Given the description of an element on the screen output the (x, y) to click on. 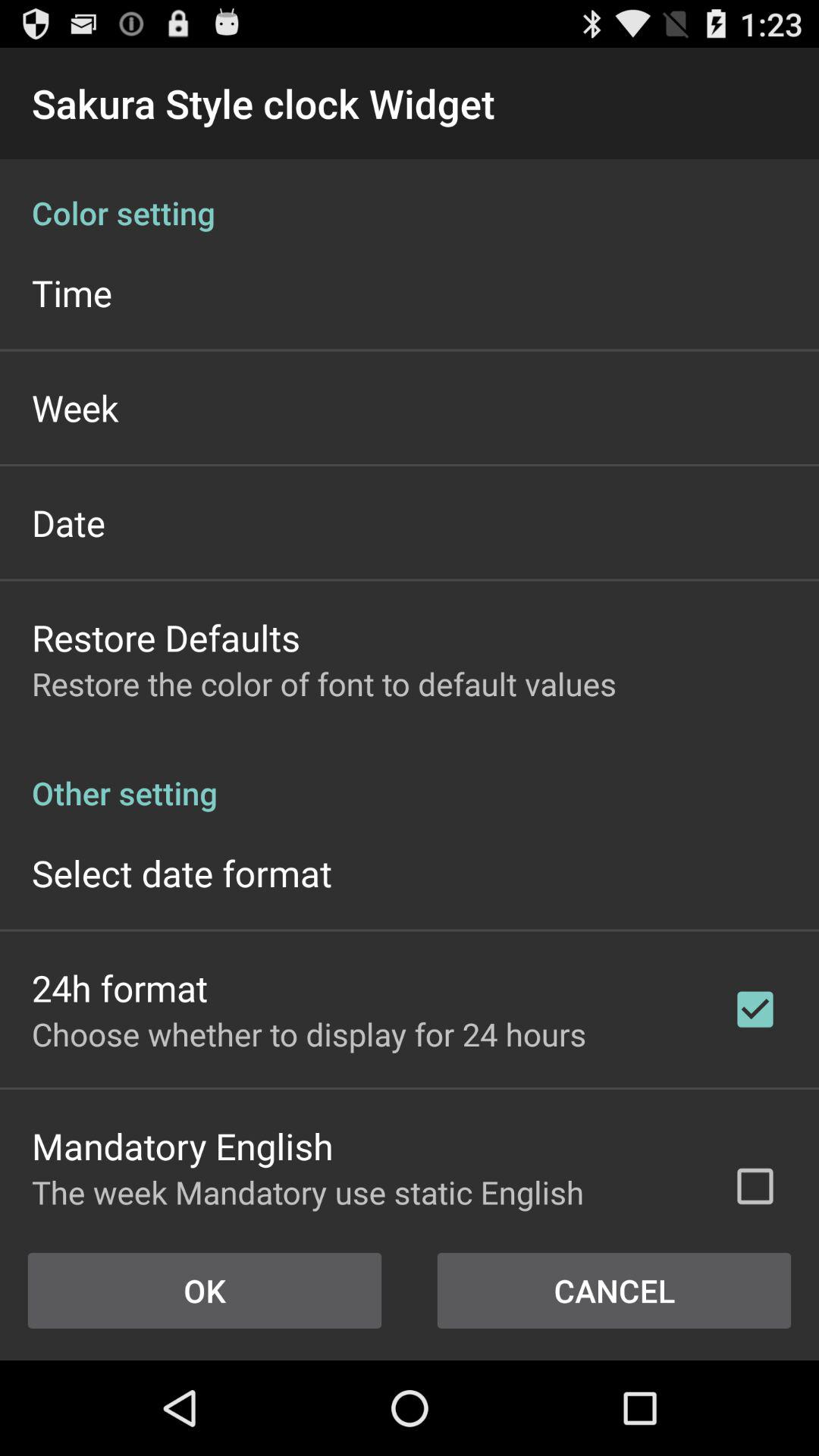
launch restore the color (323, 683)
